Given the description of an element on the screen output the (x, y) to click on. 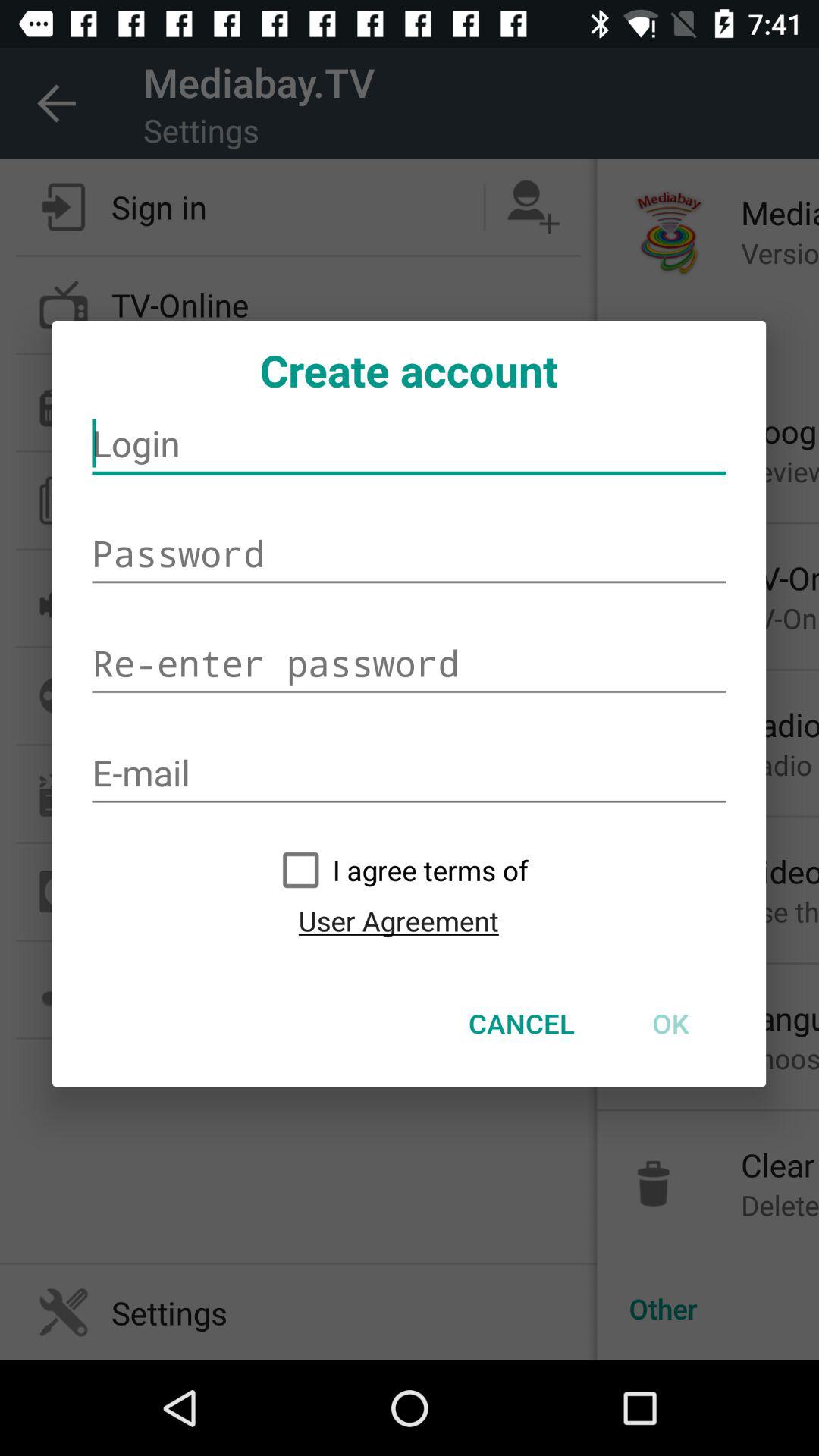
flip to cancel icon (521, 1022)
